Given the description of an element on the screen output the (x, y) to click on. 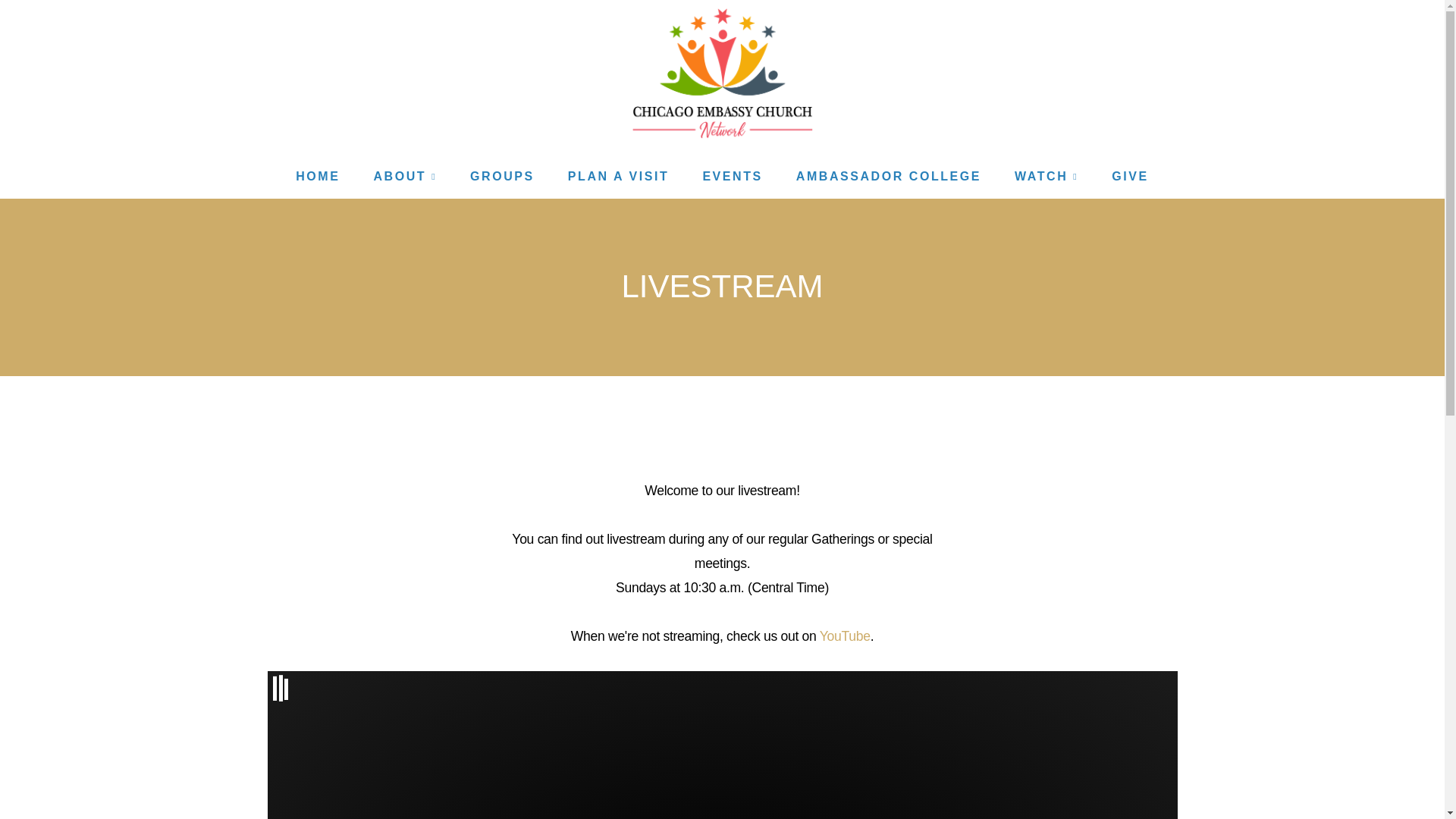
WATCH  (1045, 176)
HOME (318, 176)
ABOUT  (404, 176)
EVENTS (732, 176)
PLAN A VISIT (618, 176)
AMBASSADOR COLLEGE (887, 176)
GROUPS (502, 176)
GIVE (1129, 176)
YouTube (844, 635)
